Given the description of an element on the screen output the (x, y) to click on. 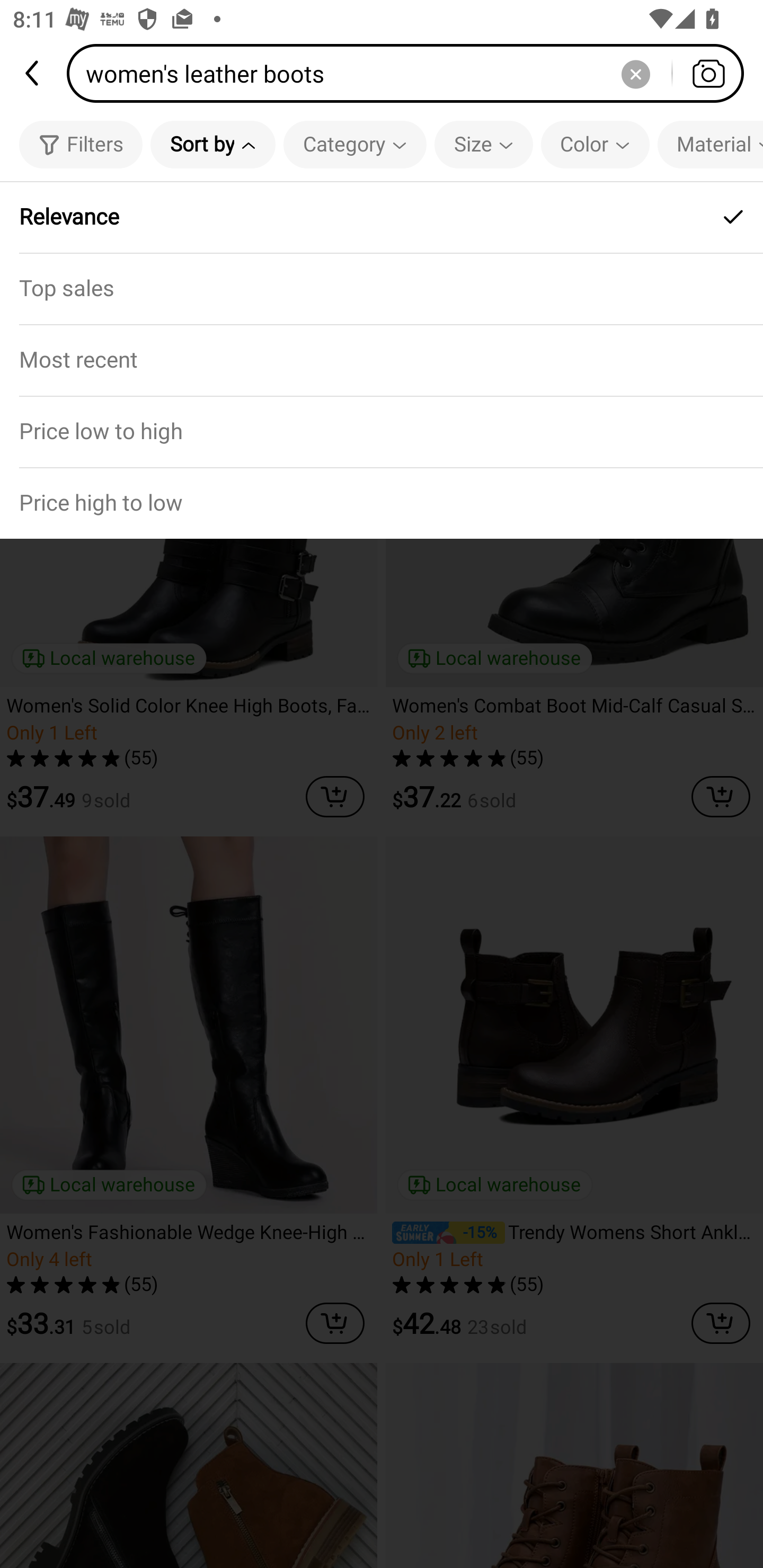
back (33, 72)
women's leather boots (411, 73)
Delete search history (635, 73)
Search by photo (708, 73)
Filters (80, 143)
Sort by (212, 143)
Category (354, 143)
Size (483, 143)
Color (594, 143)
Material (710, 143)
Relevance (381, 216)
Top sales (381, 288)
Most recent (381, 359)
Price low to high (381, 431)
Price high to low (381, 503)
